Given the description of an element on the screen output the (x, y) to click on. 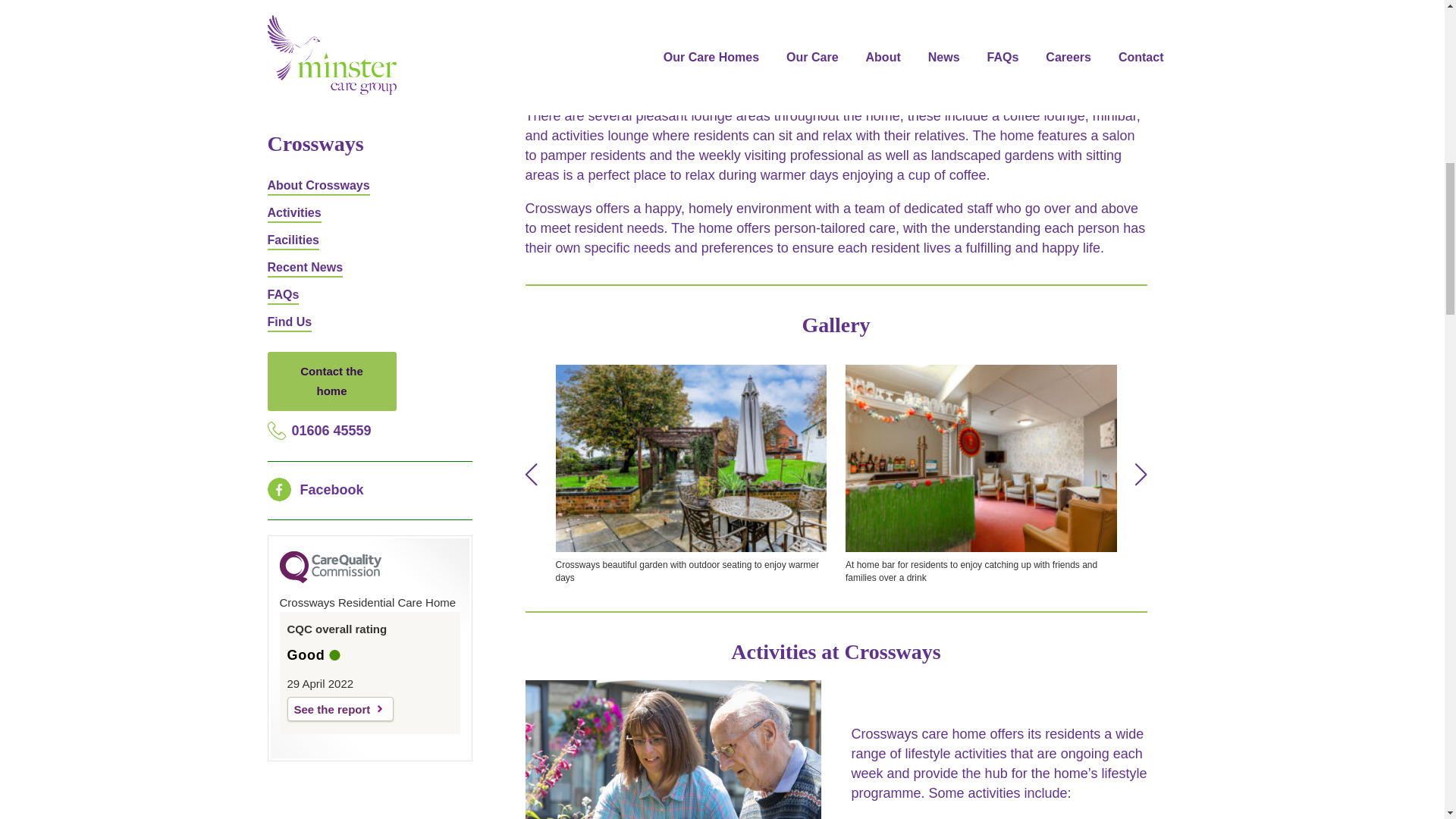
CQC Logo (329, 118)
